Given the description of an element on the screen output the (x, y) to click on. 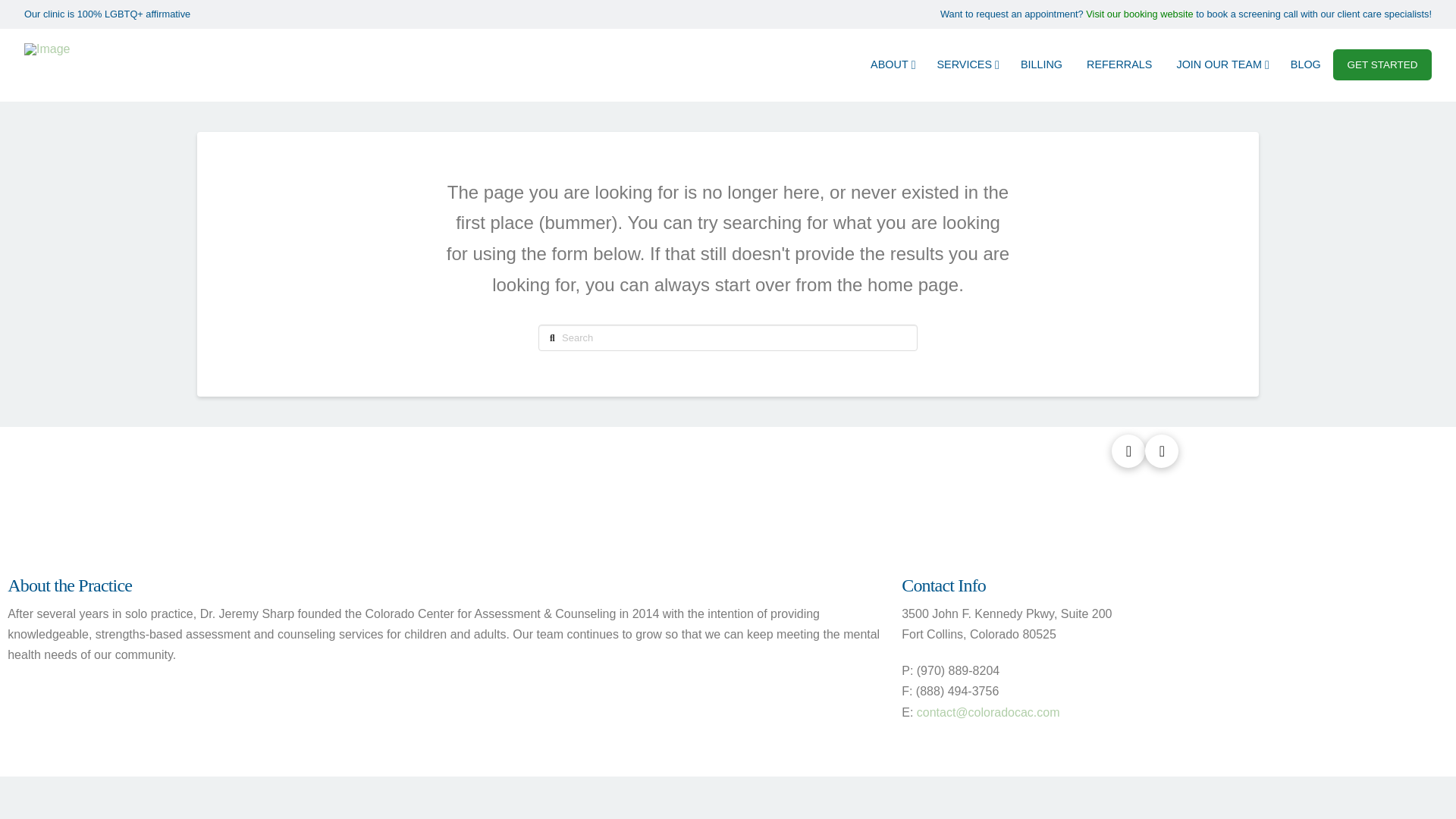
SERVICES (966, 64)
Visit our booking website (1139, 13)
ABOUT (891, 64)
BILLING (1041, 64)
REFERRALS (1118, 64)
JOIN OUR TEAM (1220, 64)
GET STARTED (1382, 64)
